Given the description of an element on the screen output the (x, y) to click on. 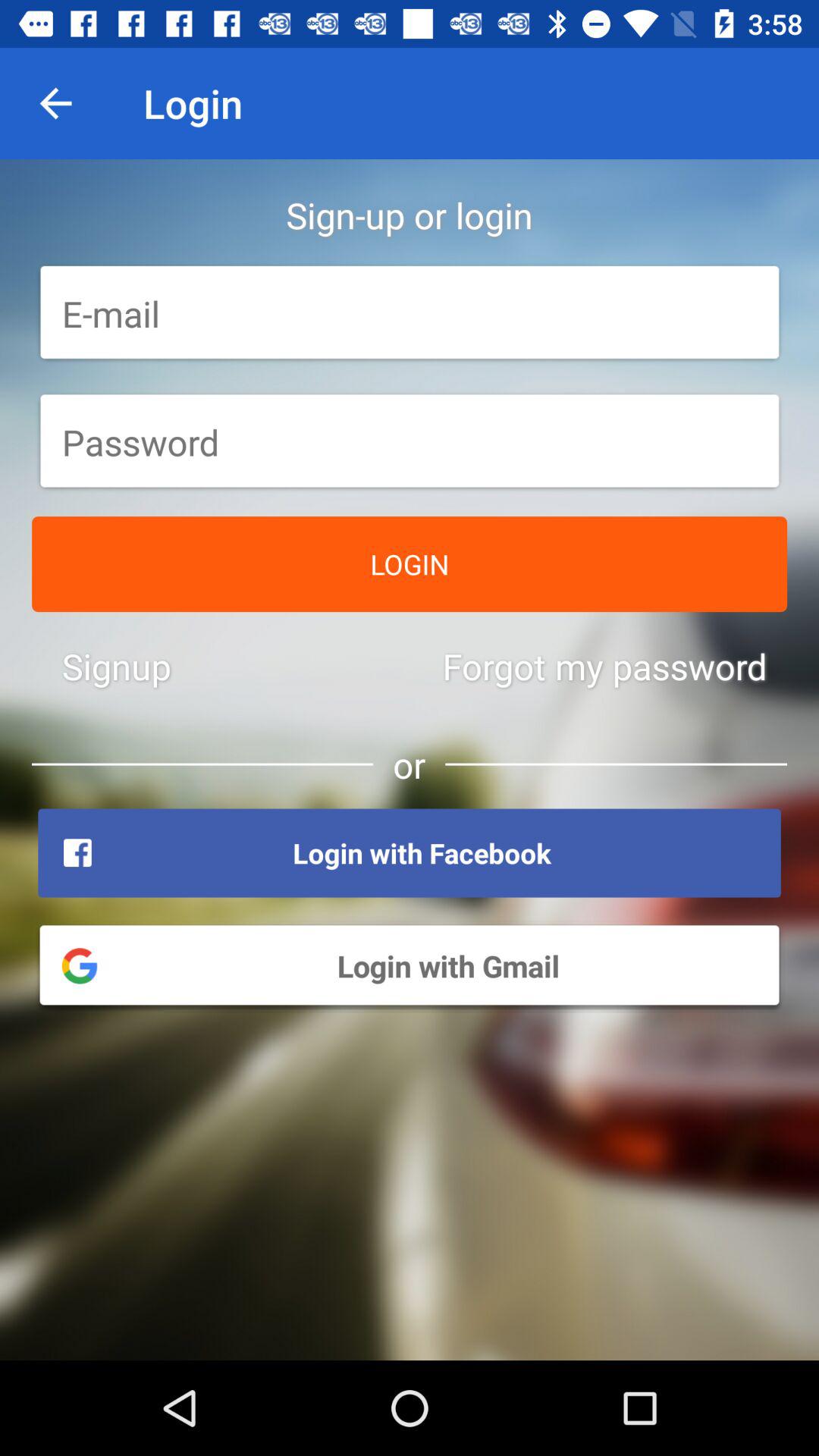
flip until signup (116, 665)
